Given the description of an element on the screen output the (x, y) to click on. 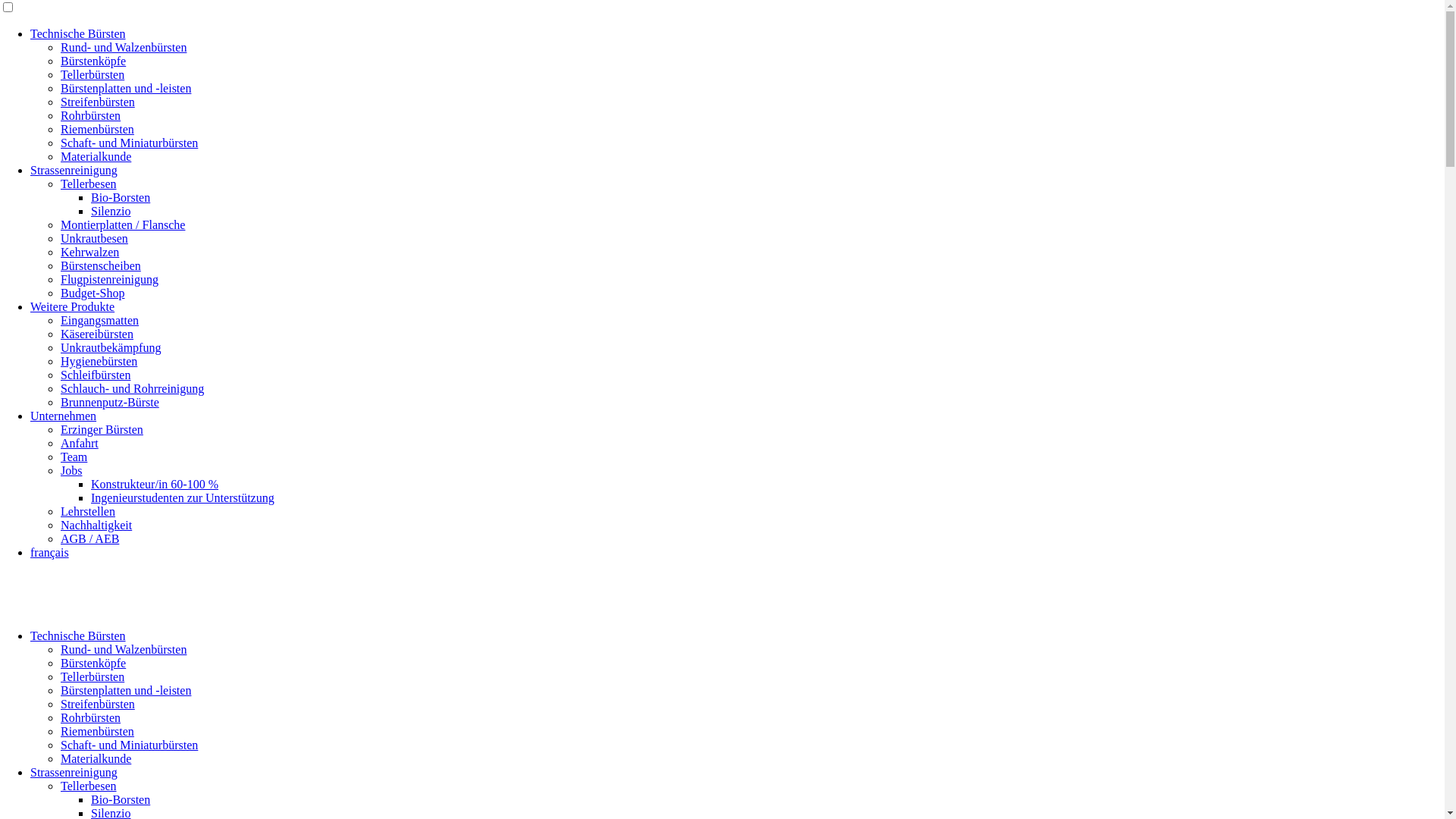
Weitere Produkte Element type: text (72, 306)
Jobs Element type: text (70, 470)
Unternehmen Element type: text (63, 415)
Konstrukteur/in 60-100 % Element type: text (154, 483)
Kehrwalzen Element type: text (89, 251)
Montierplatten / Flansche Element type: text (122, 224)
Anfahrt Element type: text (79, 442)
Strassenreinigung Element type: text (73, 169)
AGB / AEB Element type: text (89, 538)
Unkrautbesen Element type: text (94, 238)
Bio-Borsten Element type: text (120, 197)
Schlauch- und Rohrreinigung Element type: text (131, 388)
Eingangsmatten Element type: text (99, 319)
Flugpistenreinigung Element type: text (109, 279)
Strassenreinigung Element type: text (73, 771)
Materialkunde Element type: text (95, 758)
Materialkunde Element type: text (95, 156)
Team Element type: text (73, 456)
Tellerbesen Element type: text (88, 785)
Nachhaltigkeit Element type: text (95, 524)
Silenzio Element type: text (110, 210)
Tellerbesen Element type: text (88, 183)
Lehrstellen Element type: text (87, 511)
Budget-Shop Element type: text (92, 292)
Bio-Borsten Element type: text (120, 799)
